Given the description of an element on the screen output the (x, y) to click on. 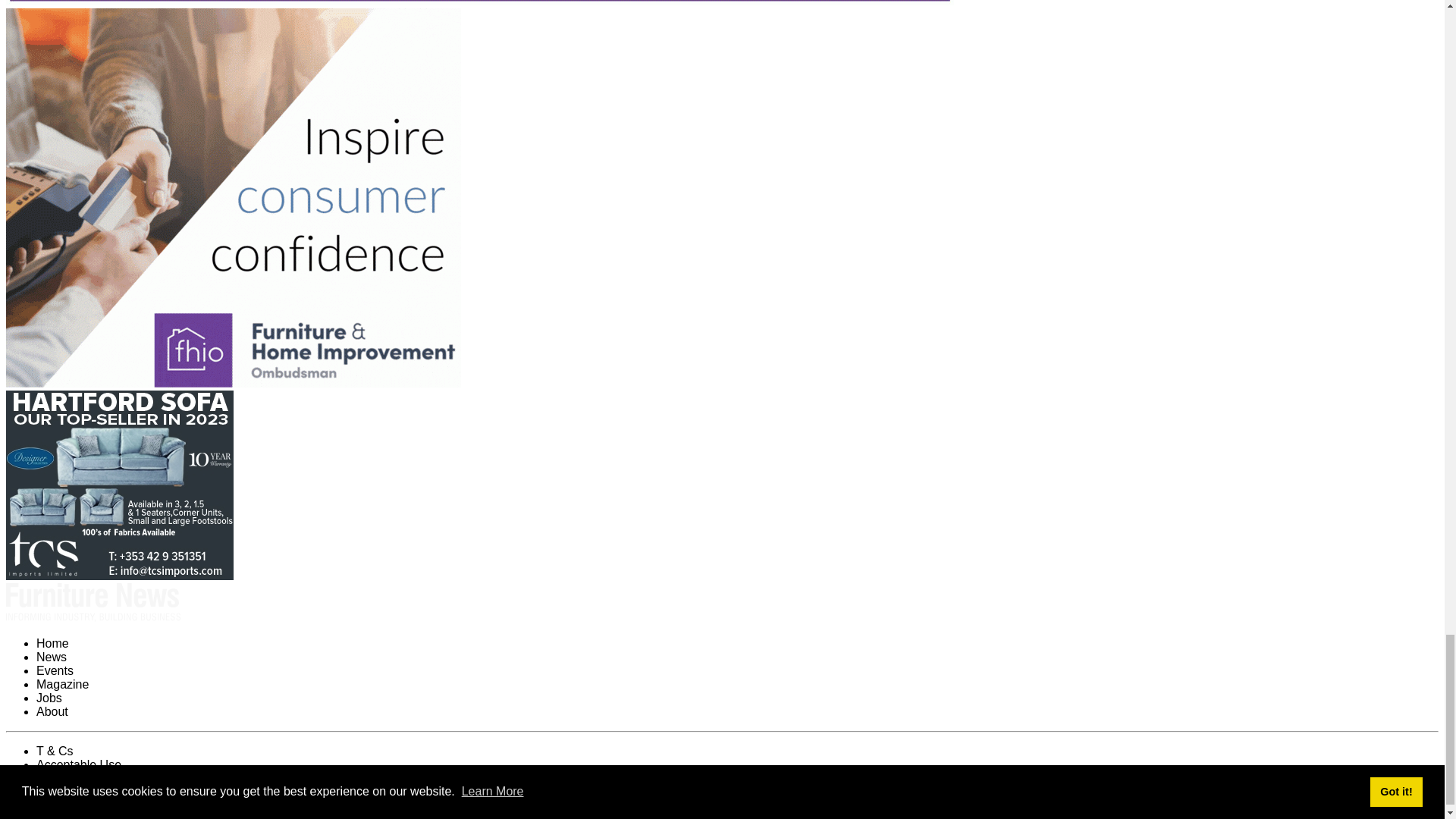
About (52, 711)
Magazine (62, 684)
Events (55, 670)
Jobs (49, 697)
Links (50, 791)
News (51, 656)
Acceptable Use (78, 764)
Privacy (55, 778)
Home (52, 643)
